Given the description of an element on the screen output the (x, y) to click on. 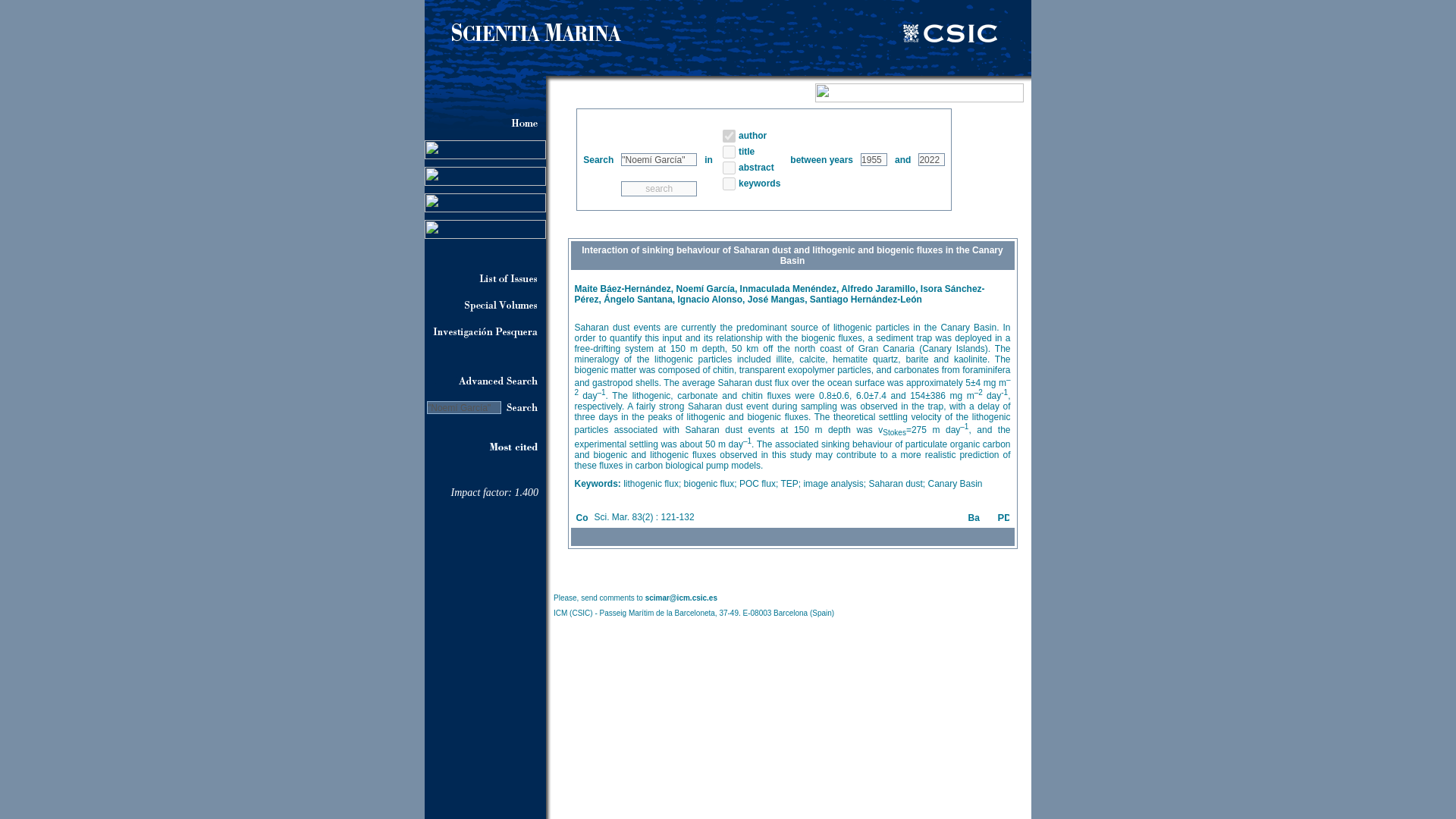
1955 (873, 159)
search (659, 188)
1 (728, 166)
1 (728, 134)
1 (728, 151)
search (659, 188)
1 (728, 183)
2022 (931, 159)
